Given the description of an element on the screen output the (x, y) to click on. 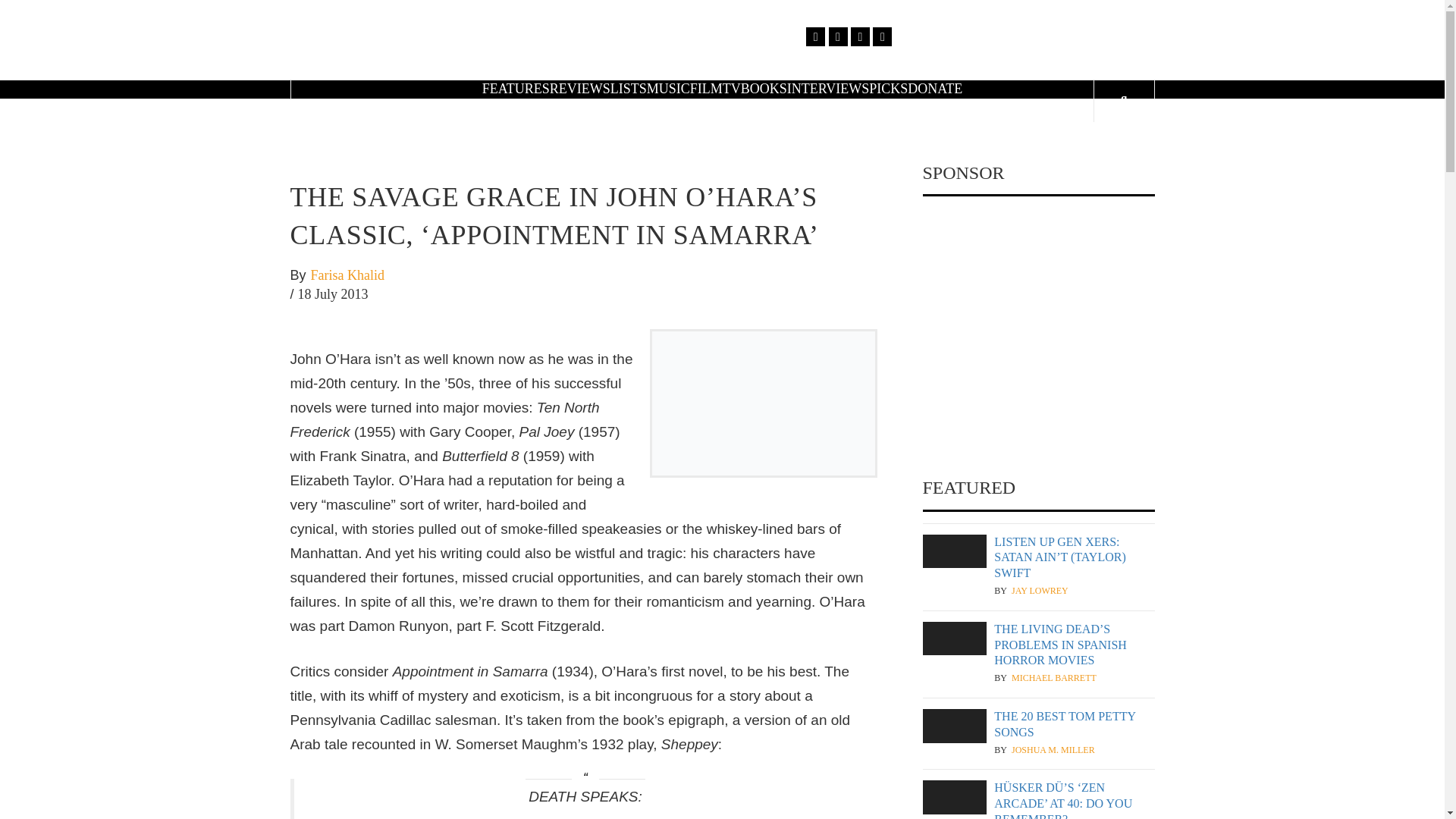
PICKS (888, 88)
POPMATTERS (903, 45)
JAY LOWREY (1039, 590)
Instagram (859, 36)
Facebook (815, 36)
Farisa Khalid (347, 275)
Twitter (837, 36)
LISTS (628, 88)
Jay Lowrey (1039, 590)
INTERVIEWS (828, 88)
Joshua M. Miller (1052, 749)
DONATE (934, 88)
FEATURES (515, 88)
Spotify (881, 36)
Michael Barrett (1053, 677)
